Given the description of an element on the screen output the (x, y) to click on. 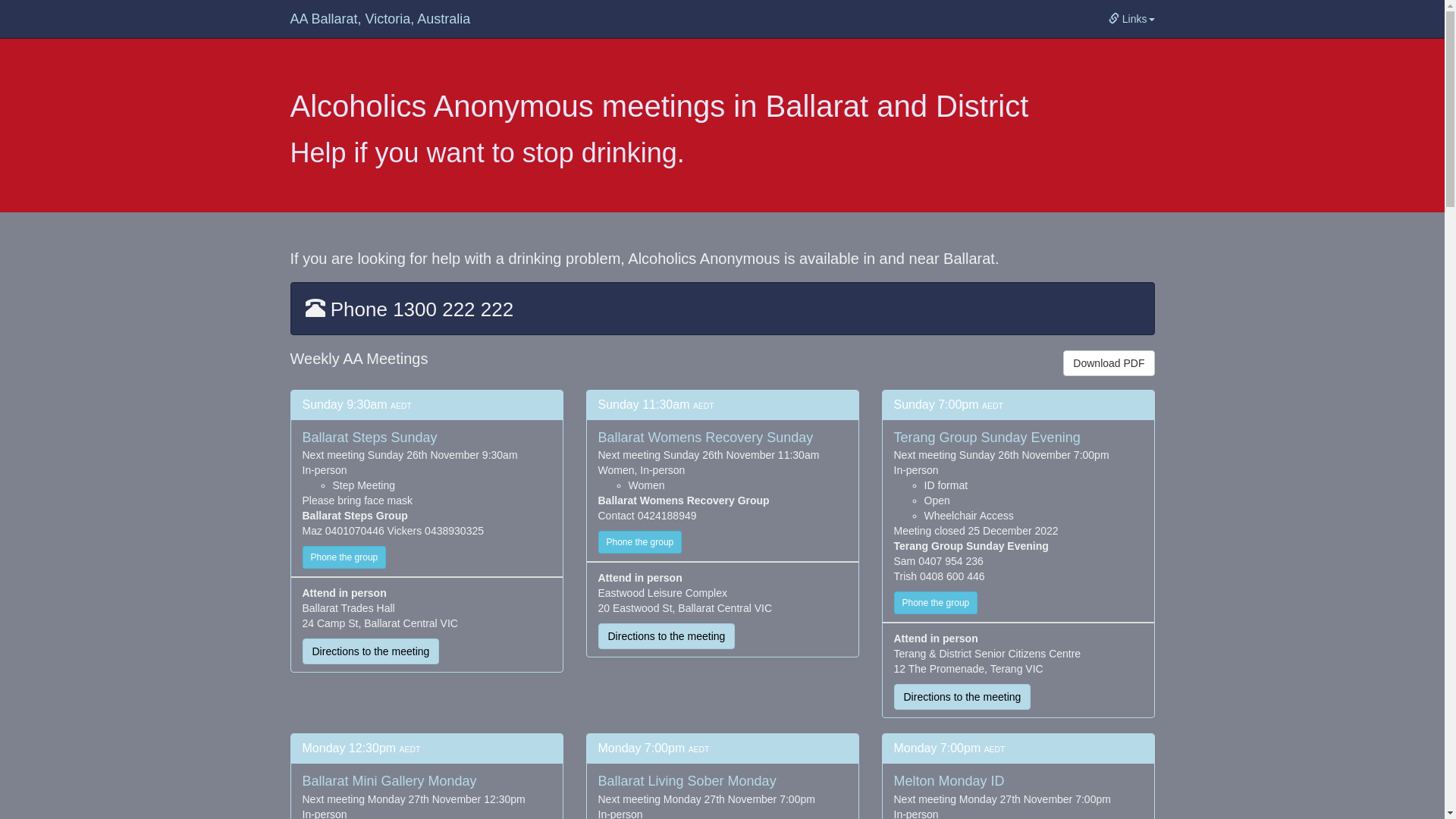
Phone the group Element type: text (343, 557)
Links Element type: text (1131, 18)
Download PDF Element type: text (1108, 363)
Ballarat Steps Sunday Element type: text (368, 437)
AA Ballarat, Victoria, Australia Element type: text (380, 18)
Ballarat Mini Gallery Monday Element type: text (388, 780)
Terang Group Sunday Evening Element type: text (986, 437)
Phone the group Element type: text (935, 602)
Ballarat Living Sober Monday Element type: text (686, 780)
Melton Monday ID Element type: text (948, 780)
Phone the group Element type: text (639, 541)
Ballarat Womens Recovery Sunday Element type: text (704, 437)
Directions to the meeting Element type: text (961, 696)
Directions to the meeting Element type: text (665, 636)
Directions to the meeting Element type: text (370, 651)
